Given the description of an element on the screen output the (x, y) to click on. 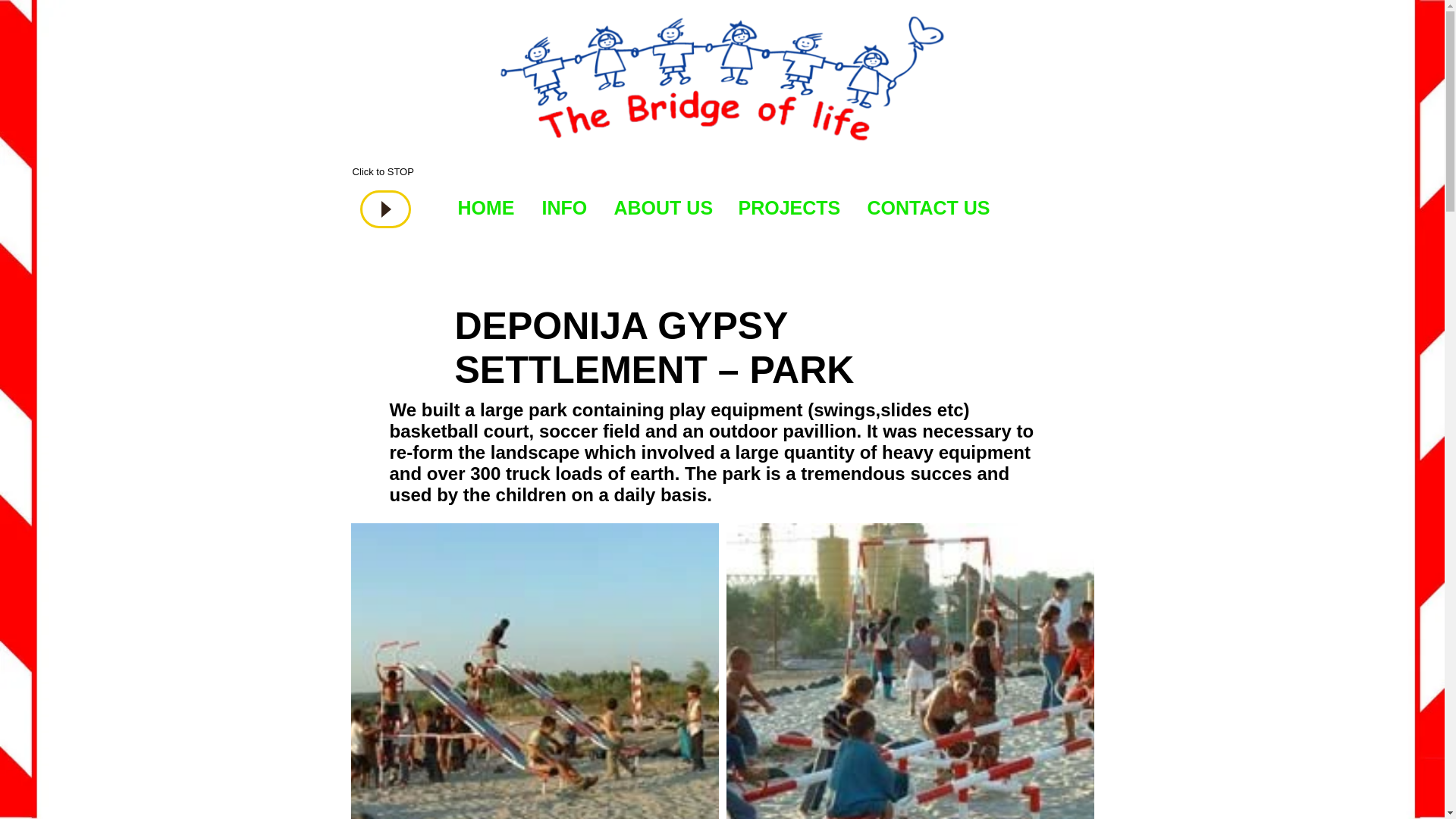
ABOUT US (662, 208)
INFO (563, 208)
CONTACT US (927, 208)
HOME (486, 208)
PROJECTS (789, 208)
